Given the description of an element on the screen output the (x, y) to click on. 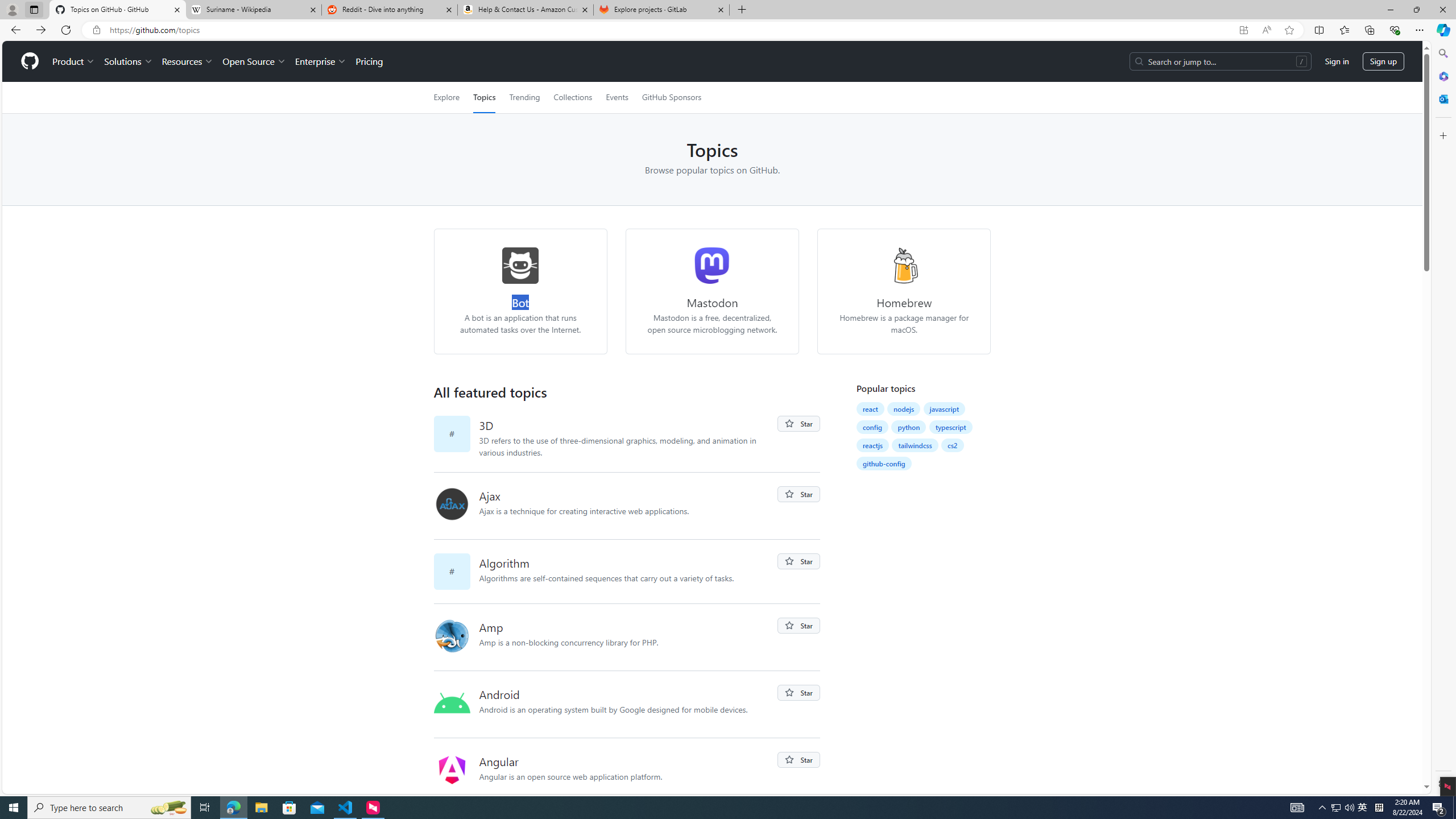
homebrew (904, 265)
ajax (456, 505)
Sign in (1336, 61)
ajax (451, 504)
cs2 (951, 445)
tailwindcss (915, 445)
Trending (524, 97)
Open Source (254, 60)
Pricing (368, 60)
Solutions (128, 60)
android (451, 702)
